Given the description of an element on the screen output the (x, y) to click on. 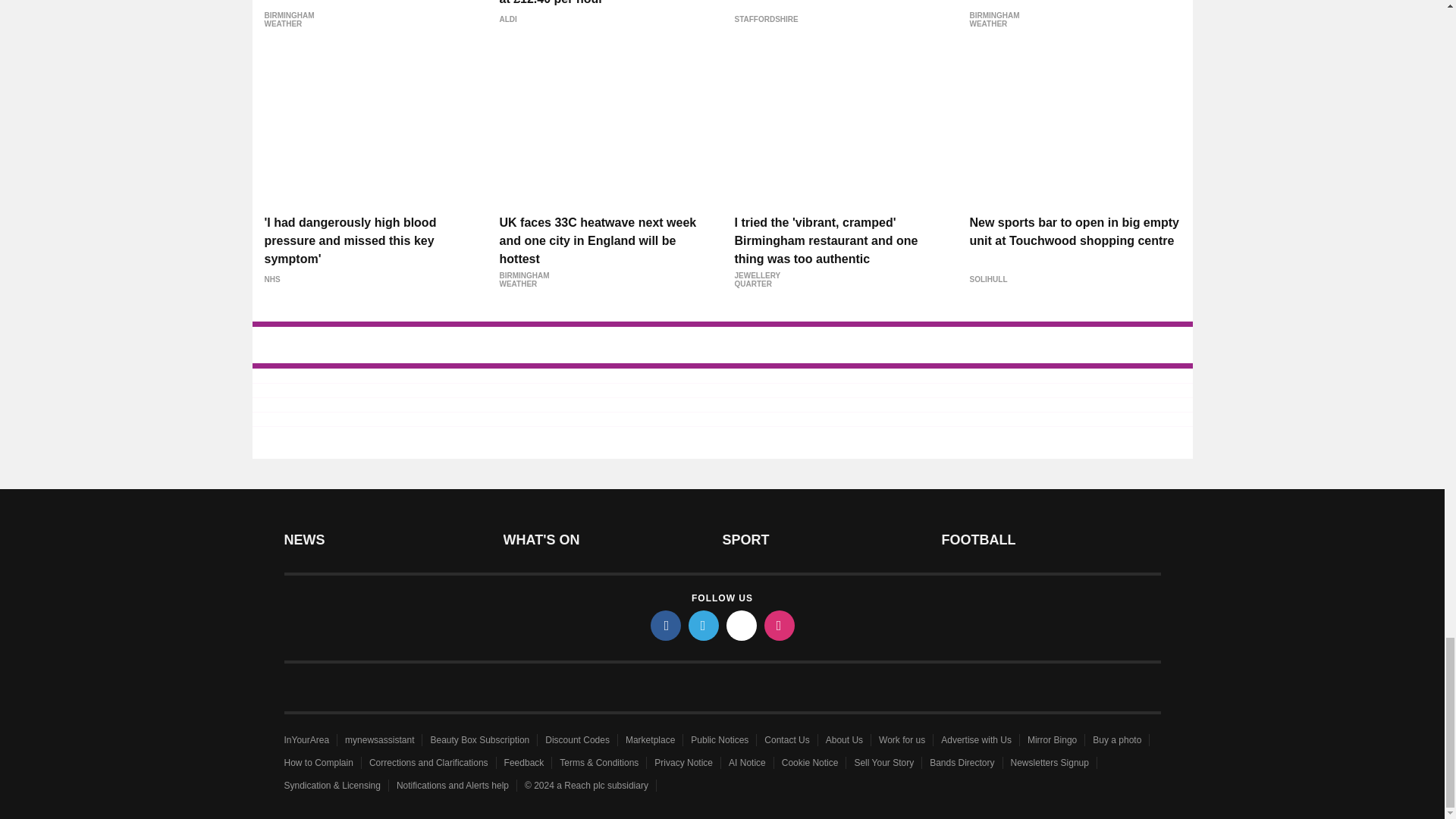
facebook (665, 625)
instagram (779, 625)
tiktok (741, 625)
twitter (703, 625)
